Given the description of an element on the screen output the (x, y) to click on. 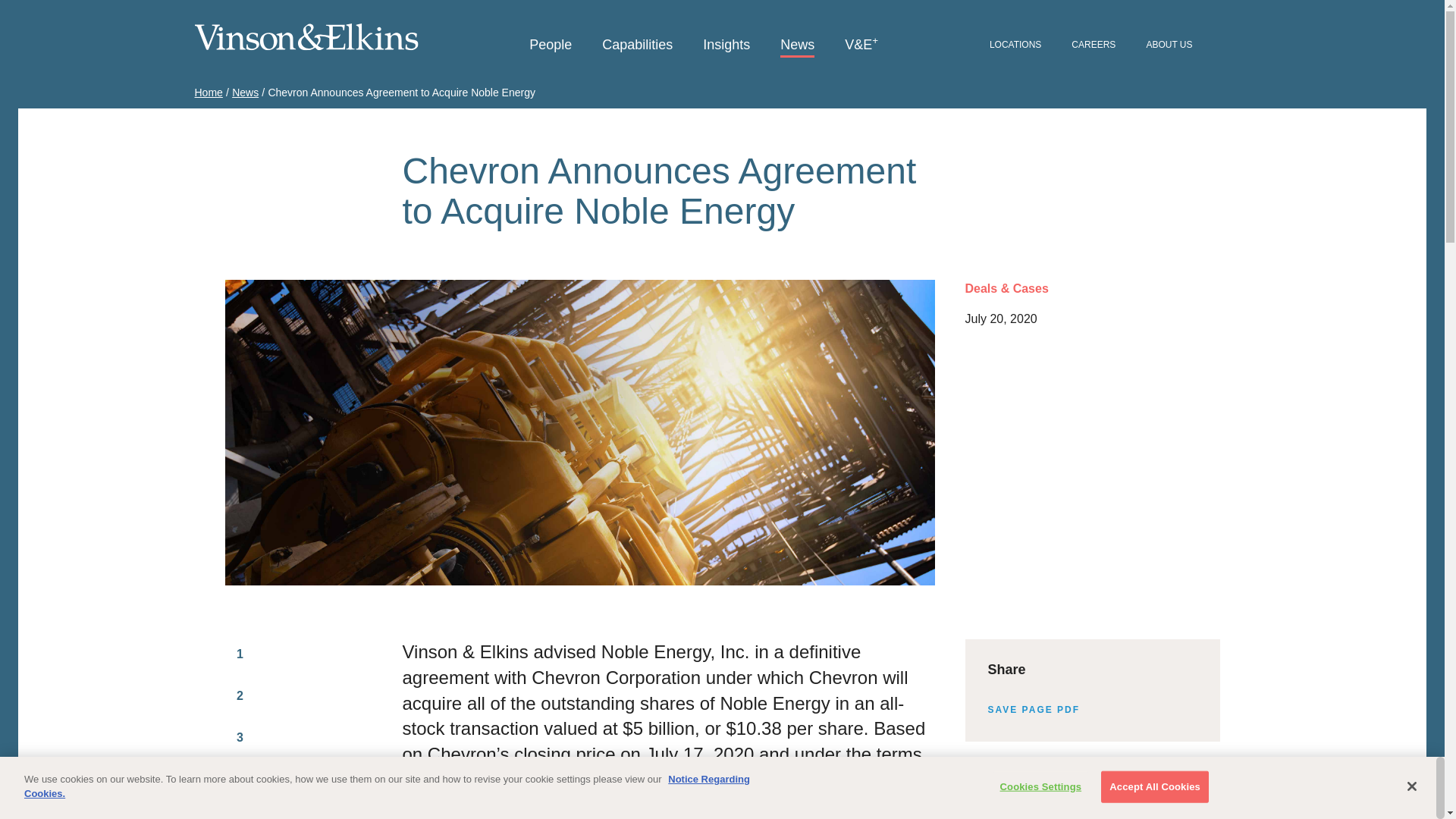
People (550, 45)
Home (207, 92)
Insights (726, 45)
News (796, 45)
LOCATIONS (1015, 45)
CAREERS (1093, 45)
3 (239, 737)
ABOUT US (1168, 45)
Capabilities (637, 45)
News (245, 92)
